Given the description of an element on the screen output the (x, y) to click on. 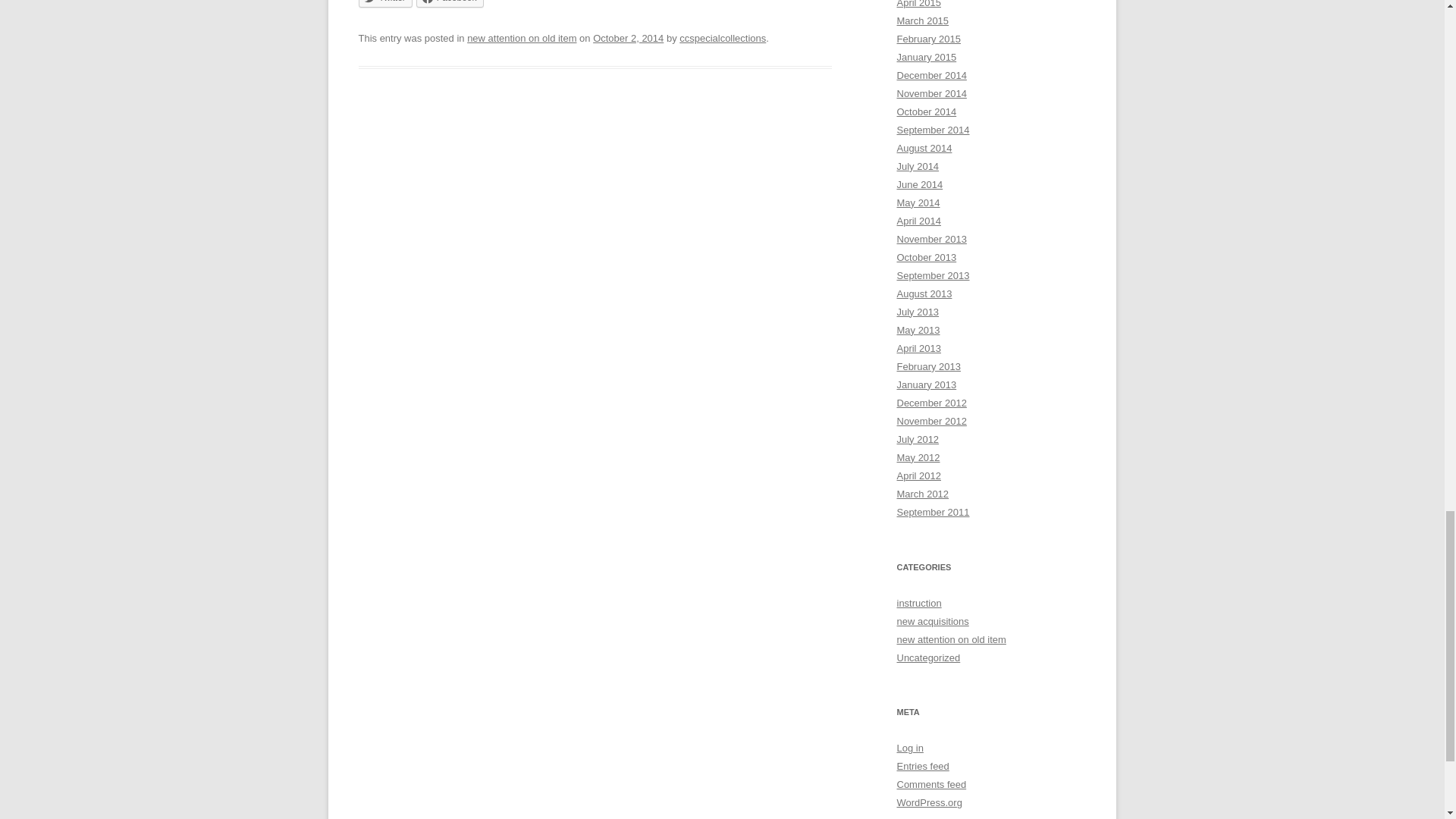
5:58 pm (627, 38)
View all posts by ccspecialcollections (722, 38)
Facebook (449, 3)
Click to share on Twitter (385, 3)
new attention on old item (521, 38)
October 2, 2014 (627, 38)
Twitter (385, 3)
ccspecialcollections (722, 38)
Click to share on Facebook (449, 3)
